Given the description of an element on the screen output the (x, y) to click on. 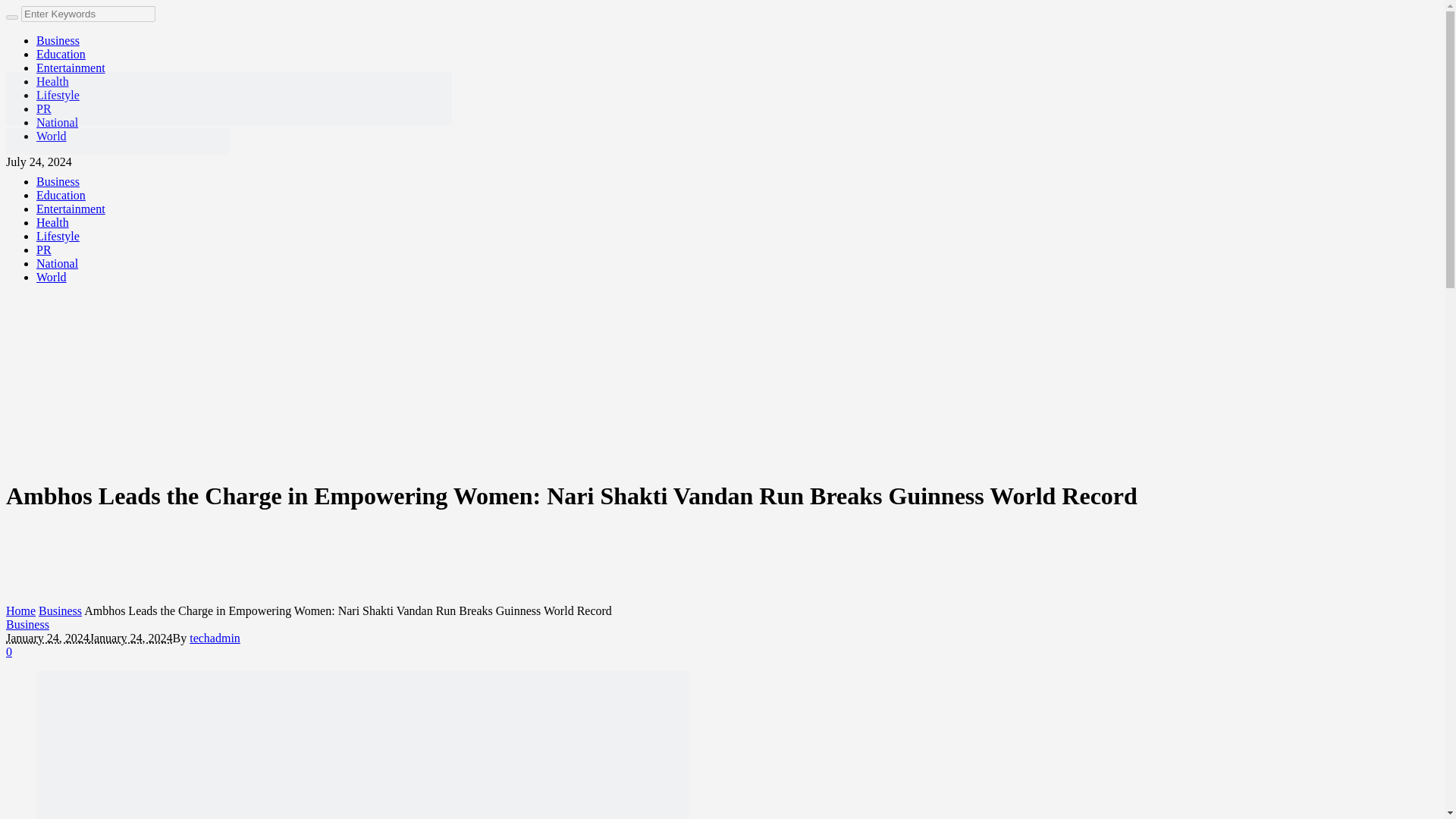
Entertainment (70, 67)
PR (43, 249)
Education (60, 53)
Business (27, 624)
Business (58, 40)
January 24, 2024 (46, 637)
Image-93 (362, 744)
techadmin (214, 637)
Zambia News Today (228, 135)
January 24, 2024 (130, 637)
Home (19, 610)
Posts by techadmin (214, 637)
Lifestyle (58, 236)
Business (60, 610)
Health (52, 81)
